Given the description of an element on the screen output the (x, y) to click on. 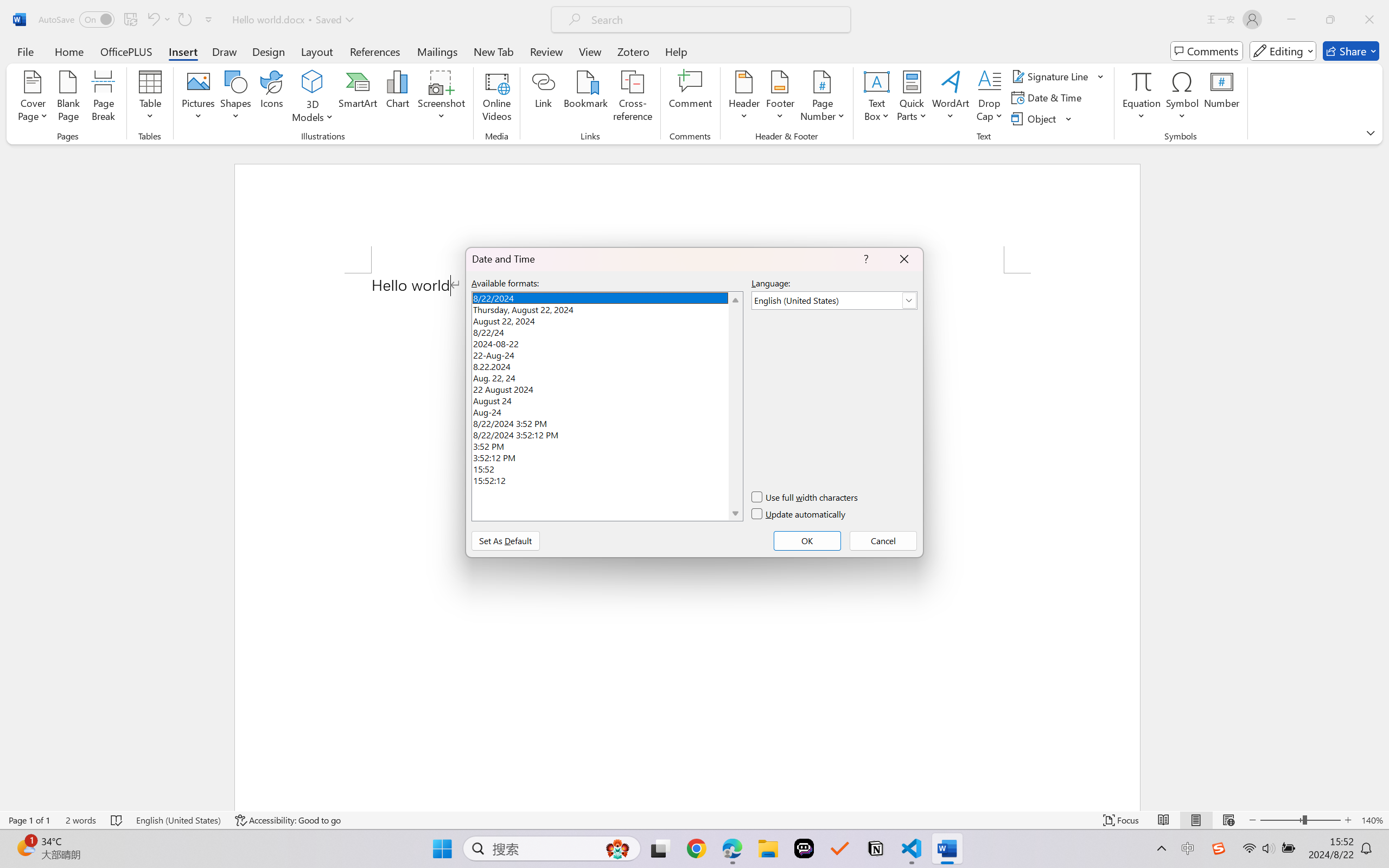
Zoom (1300, 819)
8/22/2024 3:52 PM (606, 421)
8/22/24 (606, 330)
Page Break (103, 97)
Cross-reference... (632, 97)
Microsoft search (715, 19)
Focus  (1121, 819)
Google Chrome (696, 848)
8/22/2024 (606, 296)
Share (1350, 51)
August 24 (606, 399)
Review (546, 51)
